Given the description of an element on the screen output the (x, y) to click on. 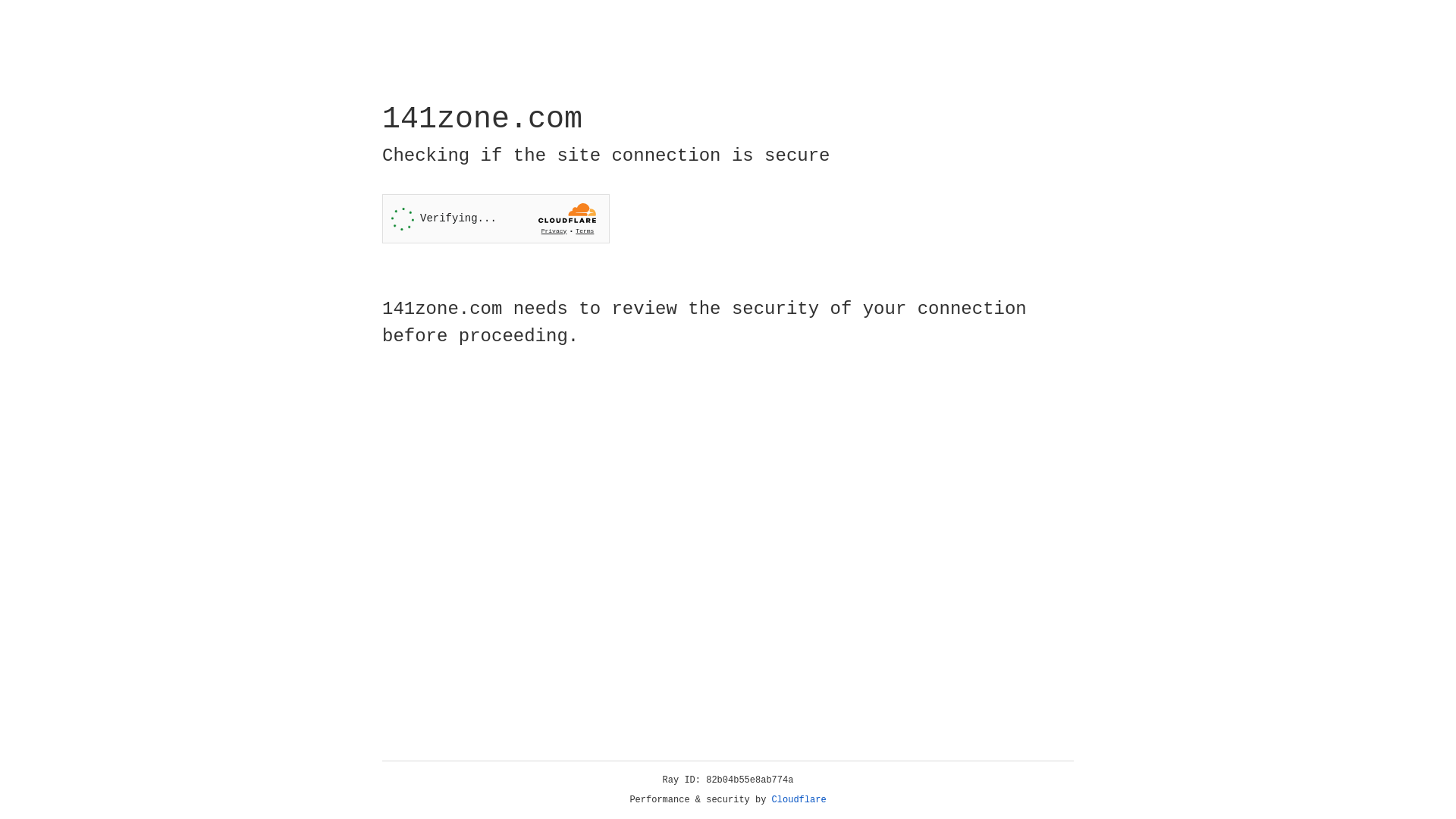
Cloudflare Element type: text (798, 799)
Widget containing a Cloudflare security challenge Element type: hover (495, 218)
